Given the description of an element on the screen output the (x, y) to click on. 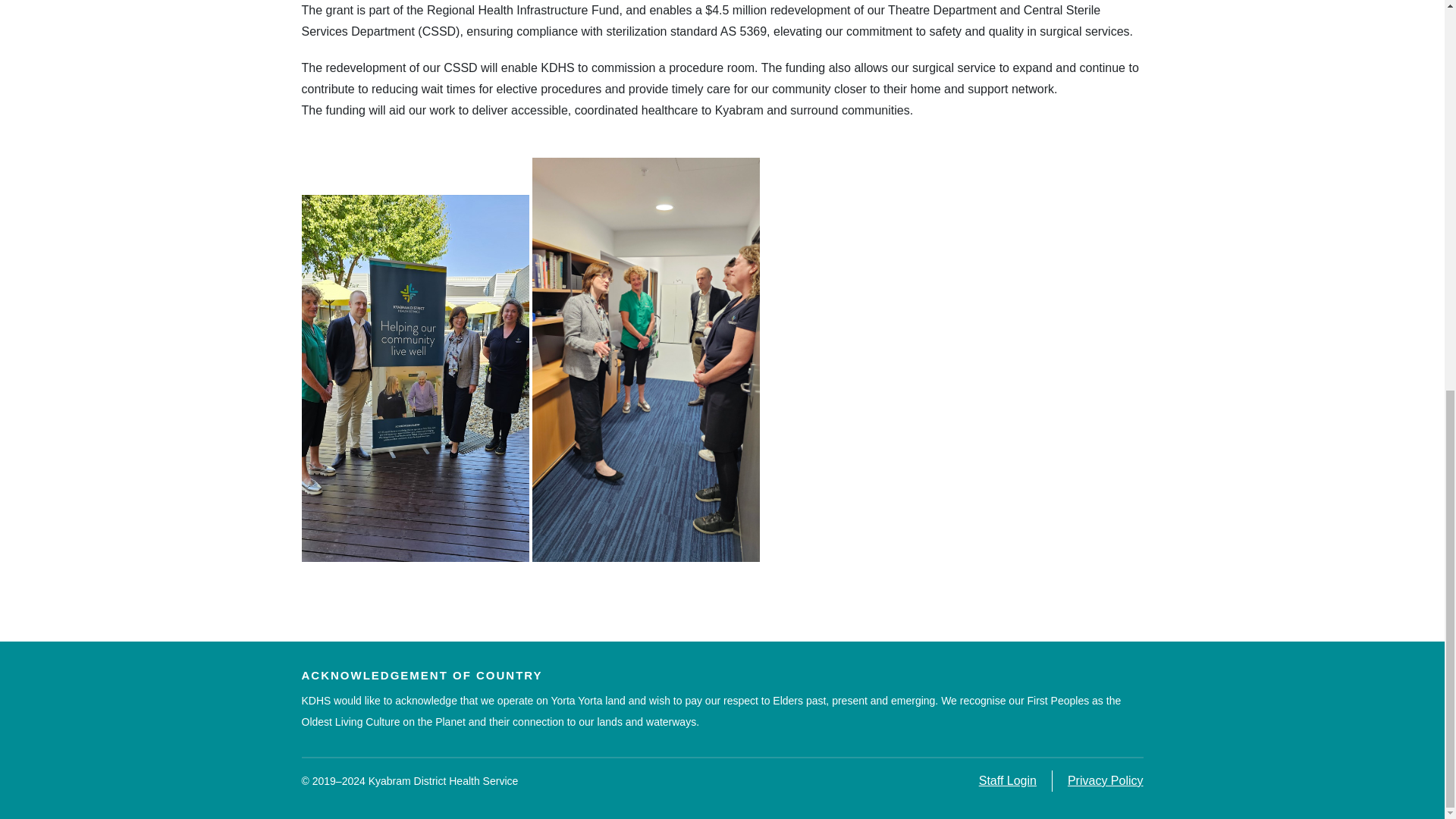
Staff Login (1007, 780)
